Given the description of an element on the screen output the (x, y) to click on. 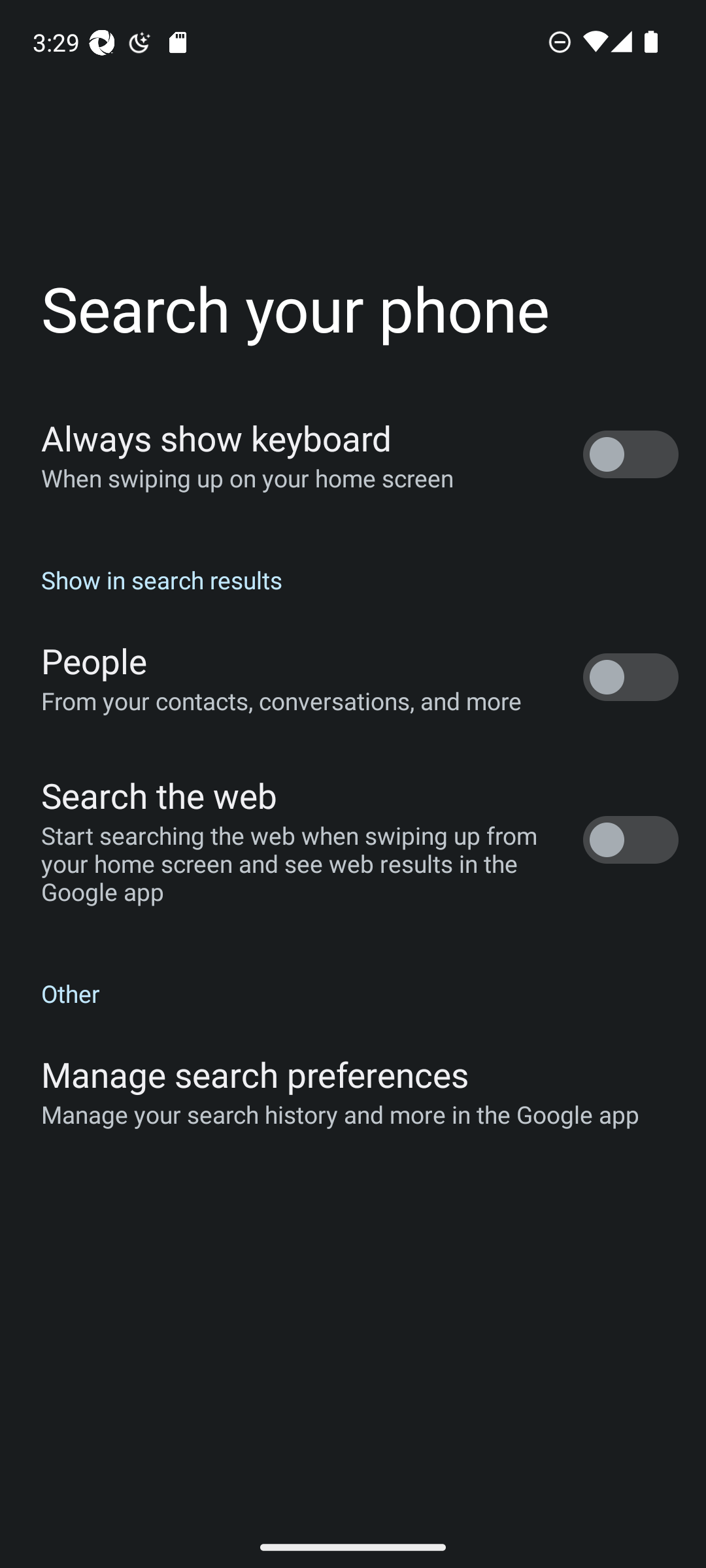
People From your contacts, conversations, and more (353, 676)
